Given the description of an element on the screen output the (x, y) to click on. 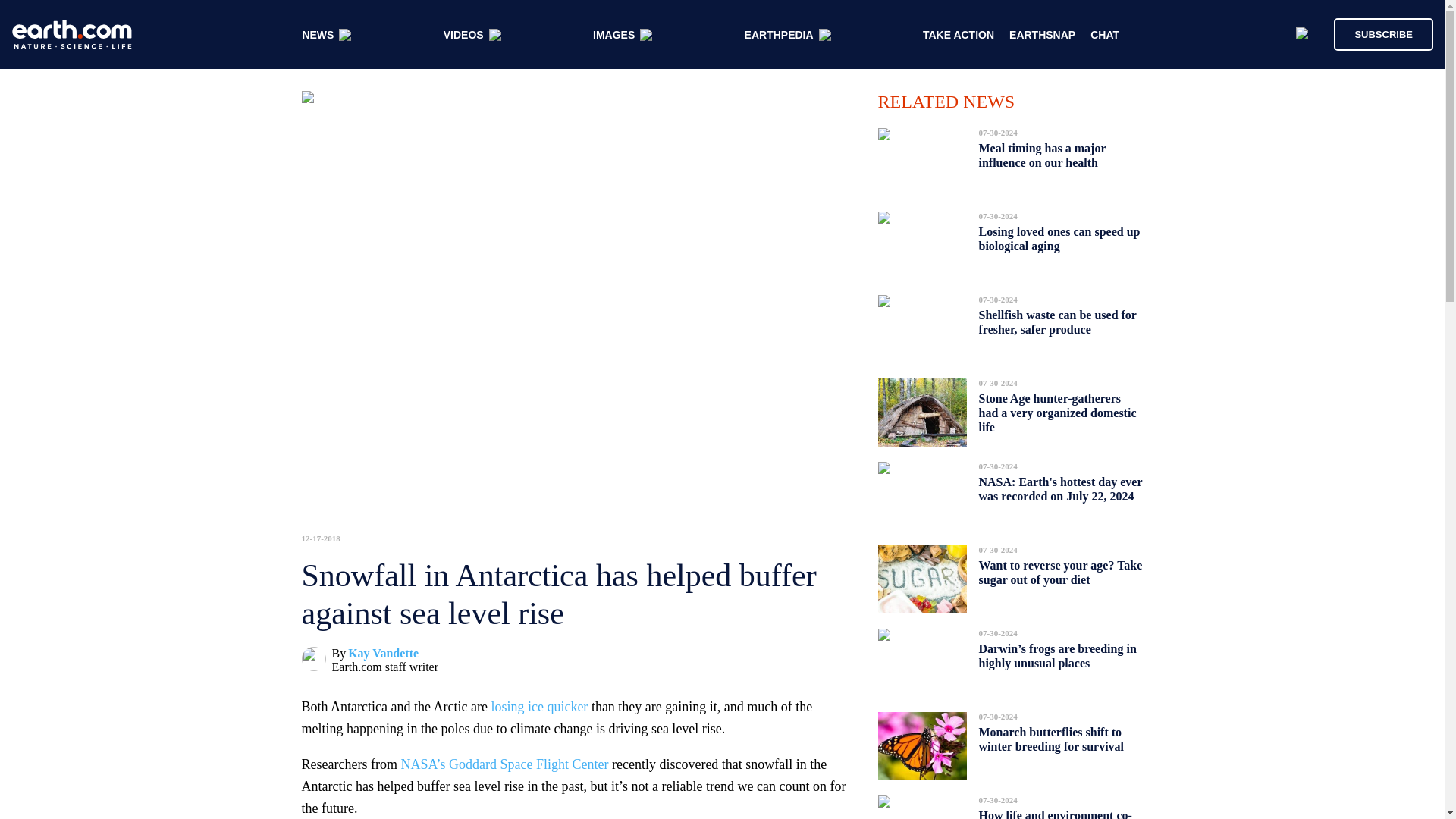
Shellfish waste can be used for fresher, safer produce (1056, 322)
SUBSCRIBE (1375, 33)
Kay Vandette (383, 653)
SUBSCRIBE (1382, 34)
Losing loved ones can speed up biological aging (1059, 238)
losing ice quicker (539, 706)
How life and environment co-evolved over 500 million years (1056, 810)
NASA: Earth's hottest day ever was recorded on July 22, 2024 (1059, 488)
CHAT (1104, 34)
Monarch butterflies shift to winter breeding for survival (1051, 739)
TAKE ACTION (958, 34)
Meal timing has a major influence on our health (1041, 155)
EARTHSNAP (1042, 34)
Want to reverse your age? Take sugar out of your diet  (1059, 572)
